Given the description of an element on the screen output the (x, y) to click on. 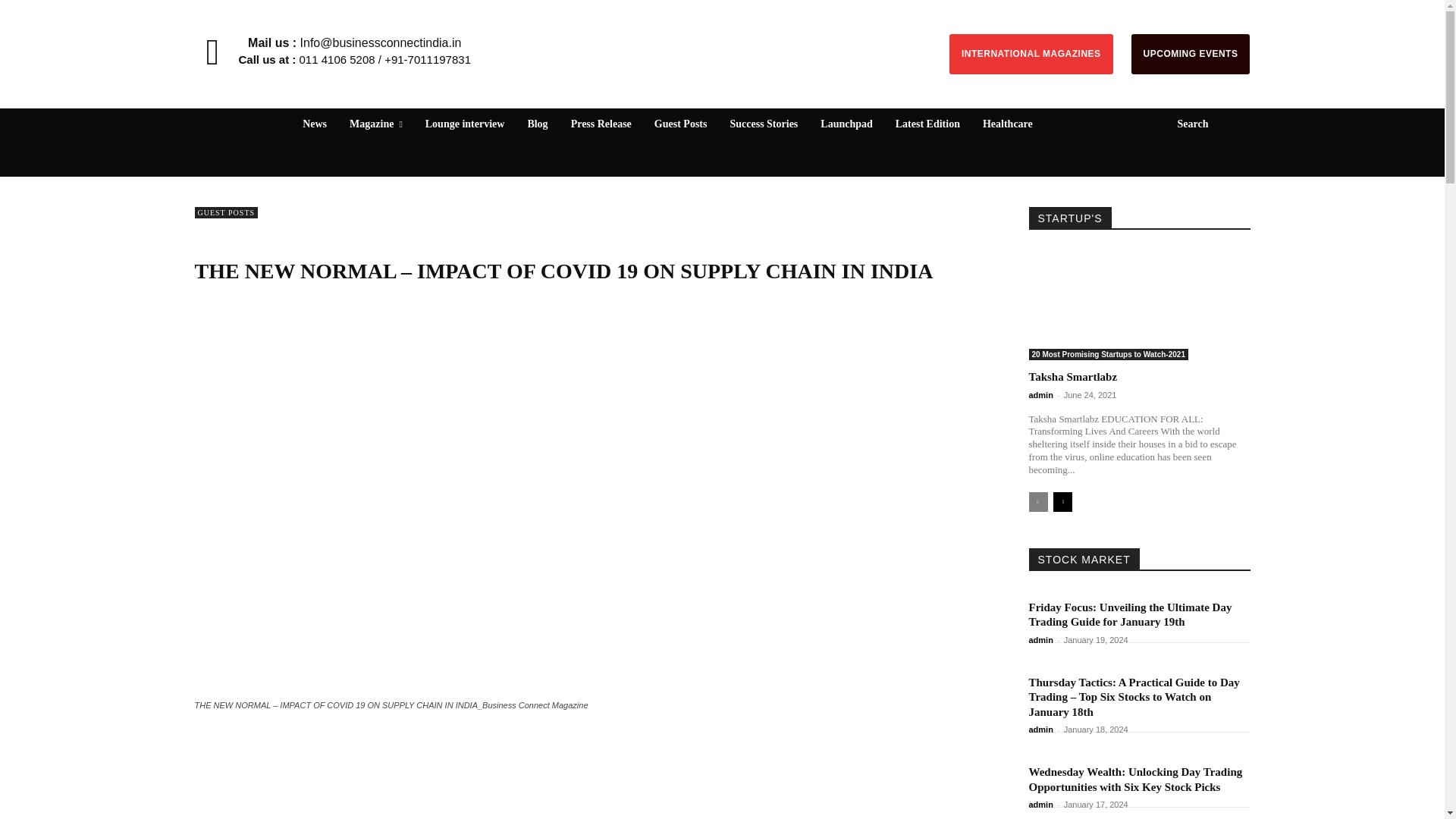
UPCOMING EVENTS (1190, 54)
Healthcare (1008, 124)
Success Stories (763, 124)
Magazine (376, 124)
Latest Edition (928, 124)
News (314, 124)
INTERNATIONAL MAGAZINES (1031, 54)
international magazines (1031, 54)
Launchpad (845, 124)
Lounge interview (464, 124)
Search (1204, 124)
Guest Posts (680, 124)
Press Release (601, 124)
Blog (536, 124)
Business Connect Logo (721, 35)
